Given the description of an element on the screen output the (x, y) to click on. 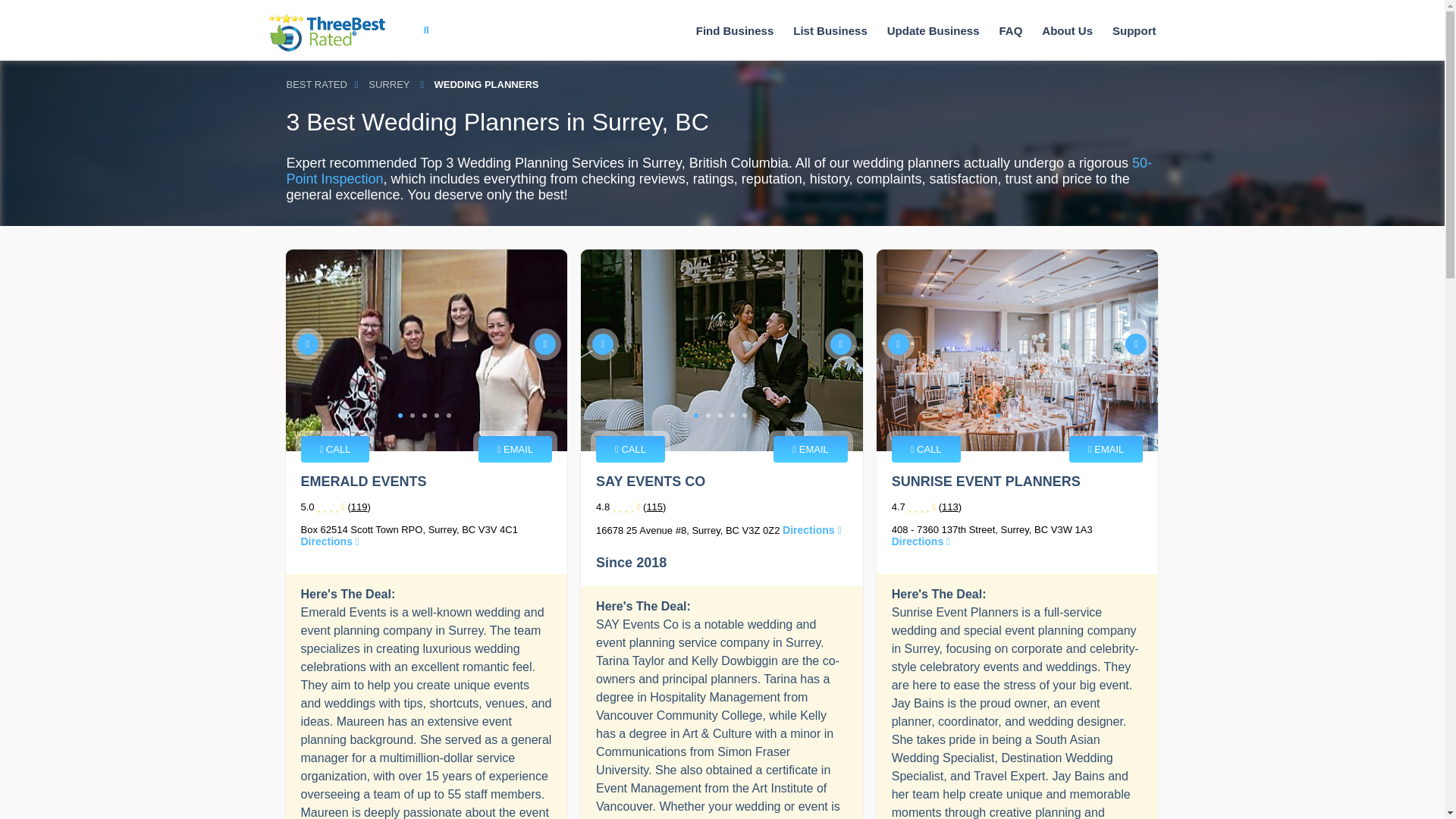
Directions to Emerald Events (328, 541)
SAY Events Co (721, 350)
List Business (830, 30)
Update Business (933, 30)
119 (359, 506)
How does Three Best Rated Canada work? (1066, 30)
